Given the description of an element on the screen output the (x, y) to click on. 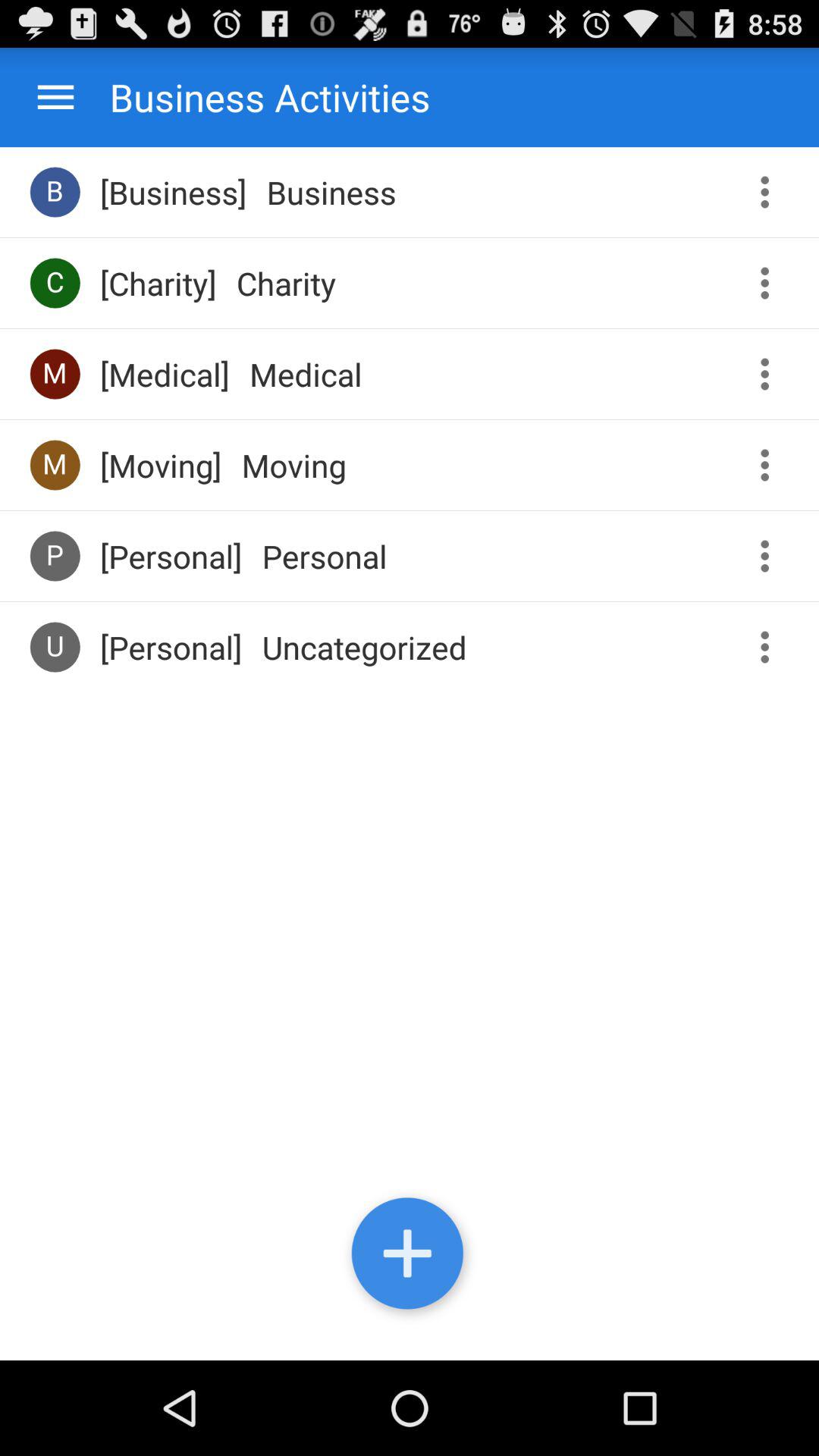
click on plus icon (409, 1257)
click on icon left to business (55, 191)
click on the third more button from bottom (770, 465)
click on the menu icon at the top left corner of the page (55, 97)
